Given the description of an element on the screen output the (x, y) to click on. 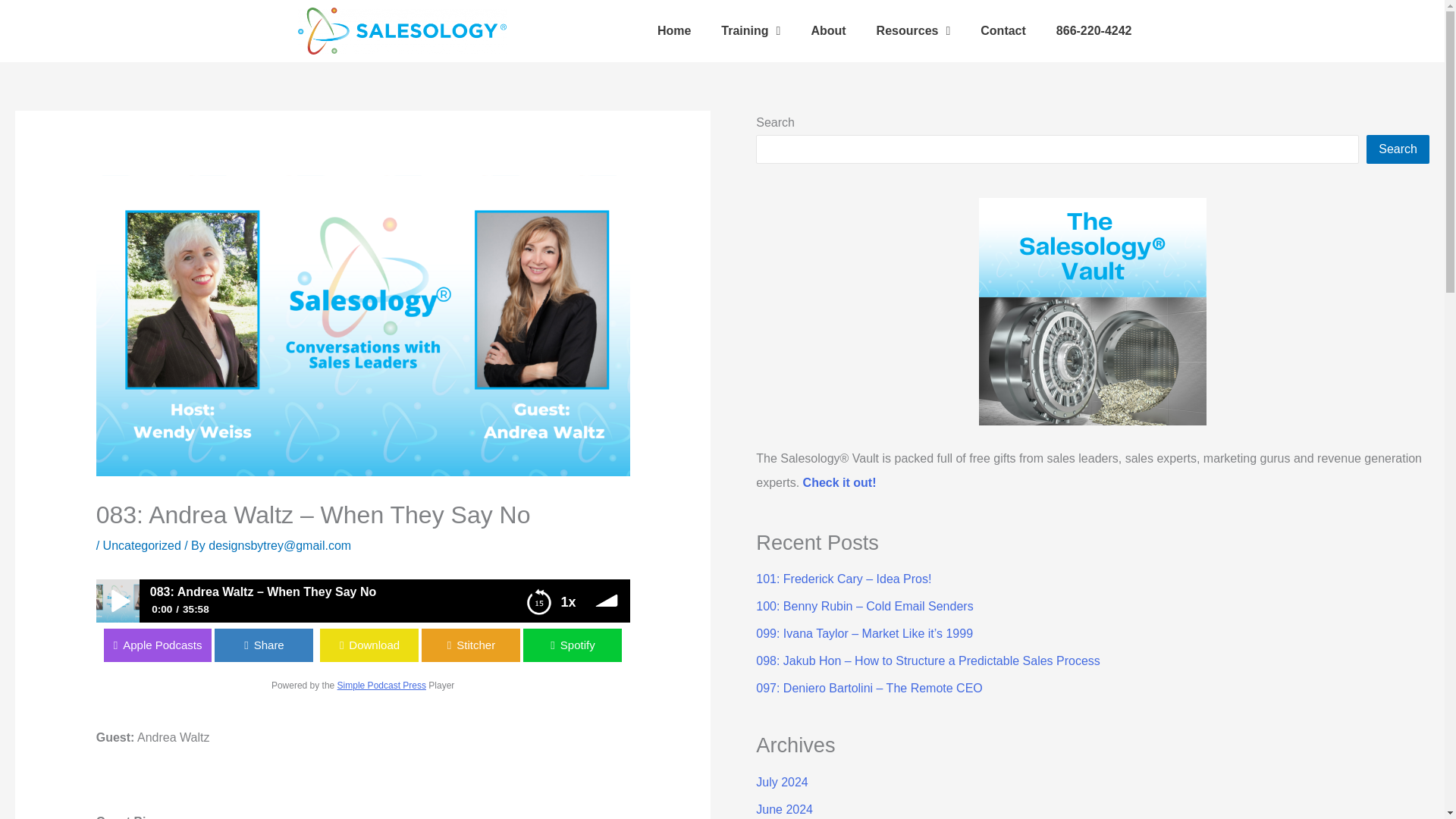
866-220-4242 (1094, 30)
Resources (913, 30)
Home (674, 30)
Training (750, 30)
About (827, 30)
Uncategorized (141, 545)
Contact (1003, 30)
